Given the description of an element on the screen output the (x, y) to click on. 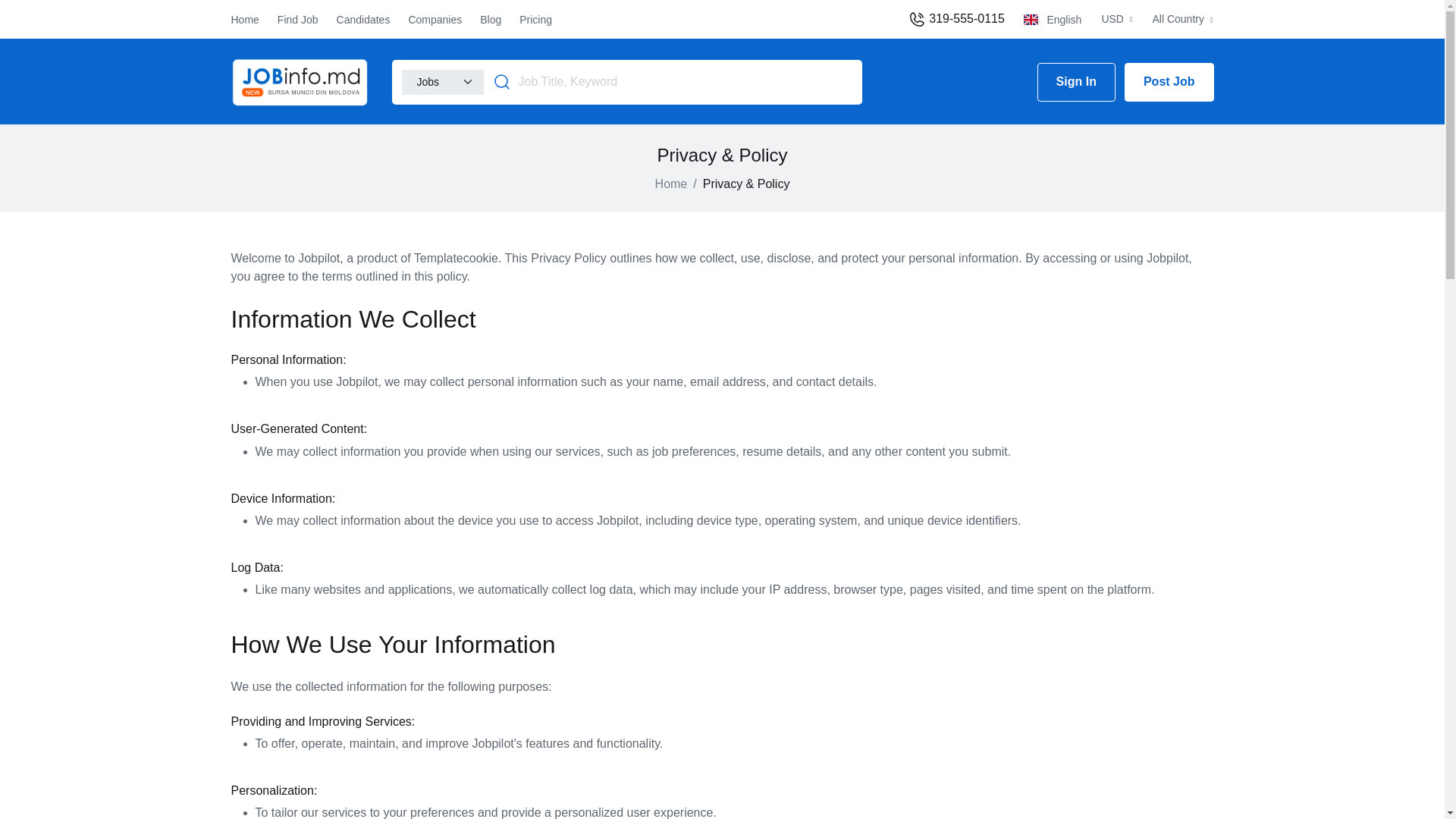
Companies (434, 19)
Candidates (363, 19)
Find Job (298, 19)
